Given the description of an element on the screen output the (x, y) to click on. 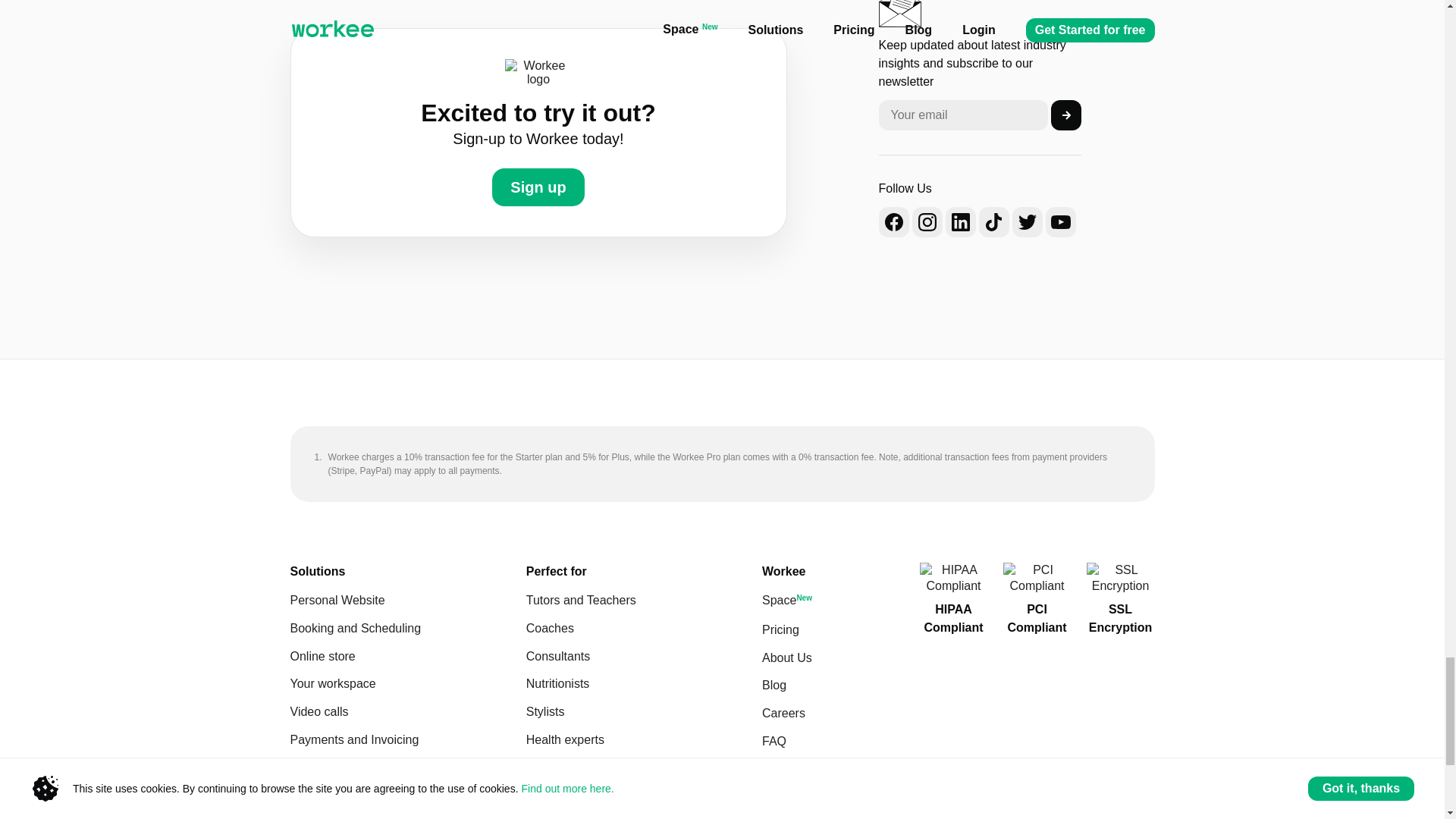
Booking and Scheduling (407, 628)
Online store (407, 657)
Your workspace (407, 684)
Video calls (407, 712)
Personal Website (407, 600)
Solutions (317, 571)
Sign up (537, 187)
